Given the description of an element on the screen output the (x, y) to click on. 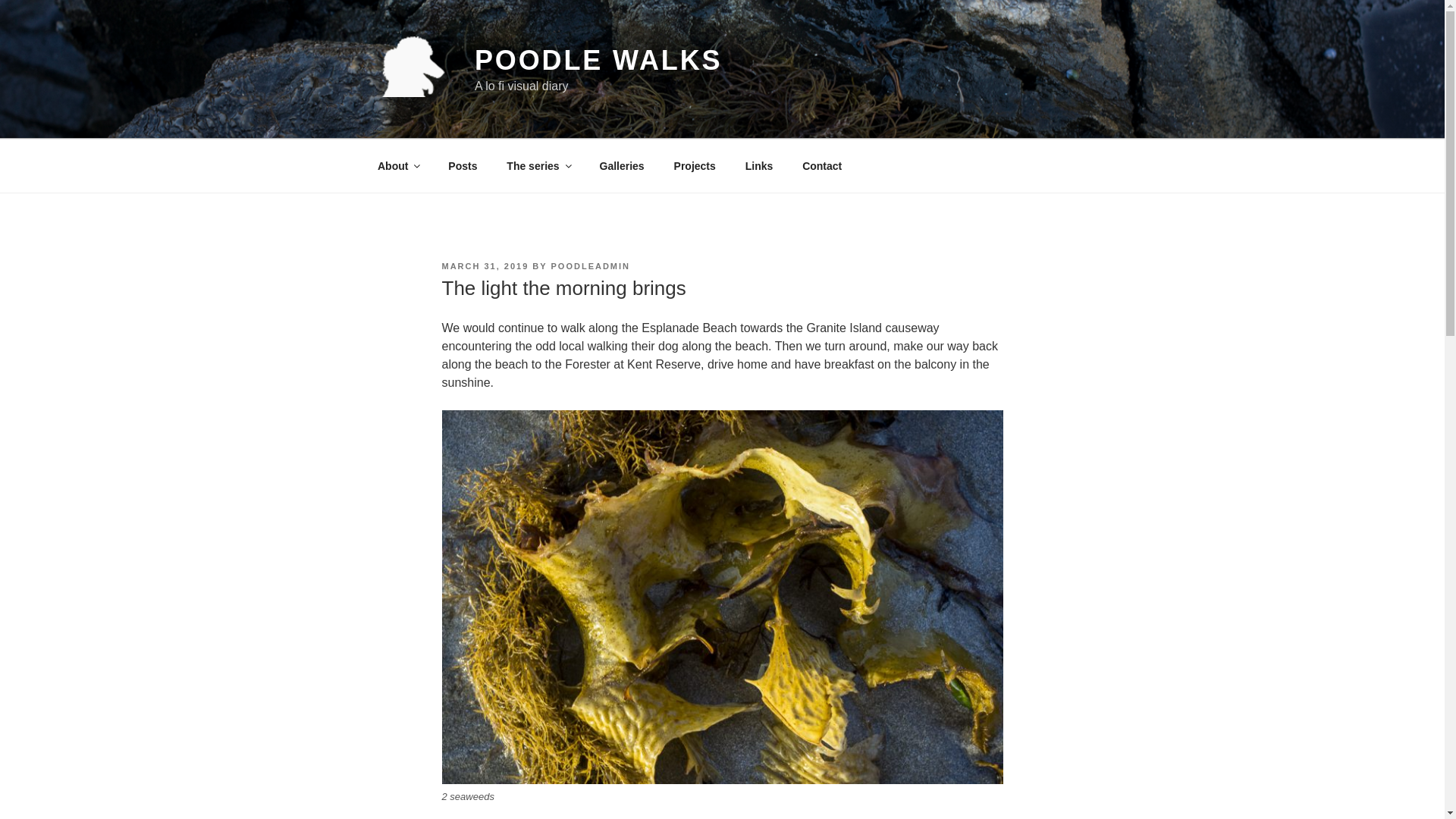
POODLE WALKS (598, 60)
Contact (822, 165)
Posts (462, 165)
About (397, 165)
Galleries (622, 165)
Links (759, 165)
Projects (695, 165)
POODLEADMIN (590, 266)
The series (538, 165)
MARCH 31, 2019 (484, 266)
